Given the description of an element on the screen output the (x, y) to click on. 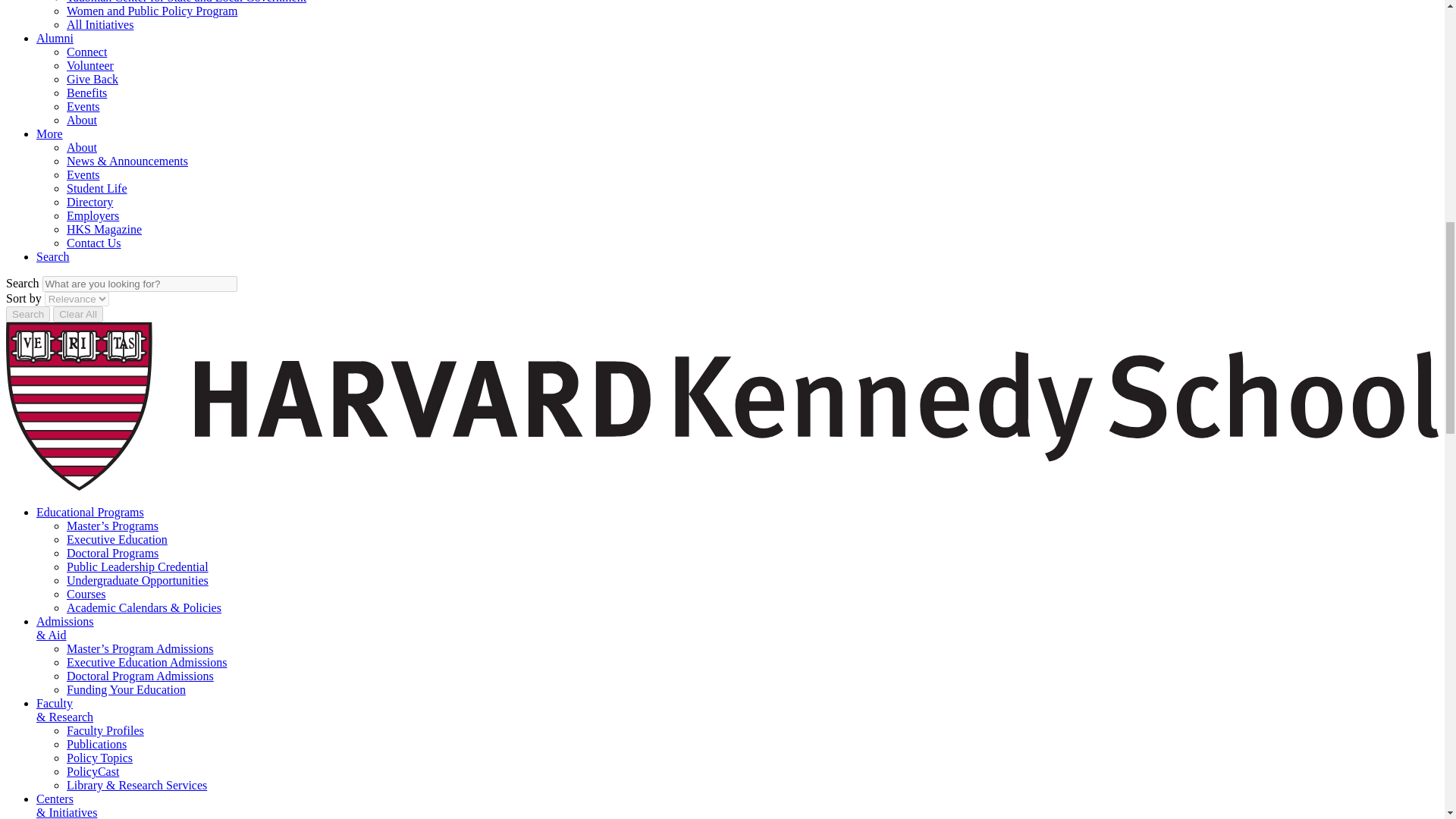
Connect (86, 51)
Clear All (77, 314)
Events (83, 174)
Women and Public Policy Program (151, 10)
Search (27, 314)
Alumni (55, 38)
Volunteer (89, 65)
Give Back (91, 78)
Taubman Center for State and Local Government (185, 2)
Taubman Center for State and Local Government (185, 2)
All Initiatives (99, 24)
Publications at HKS (96, 744)
